Given the description of an element on the screen output the (x, y) to click on. 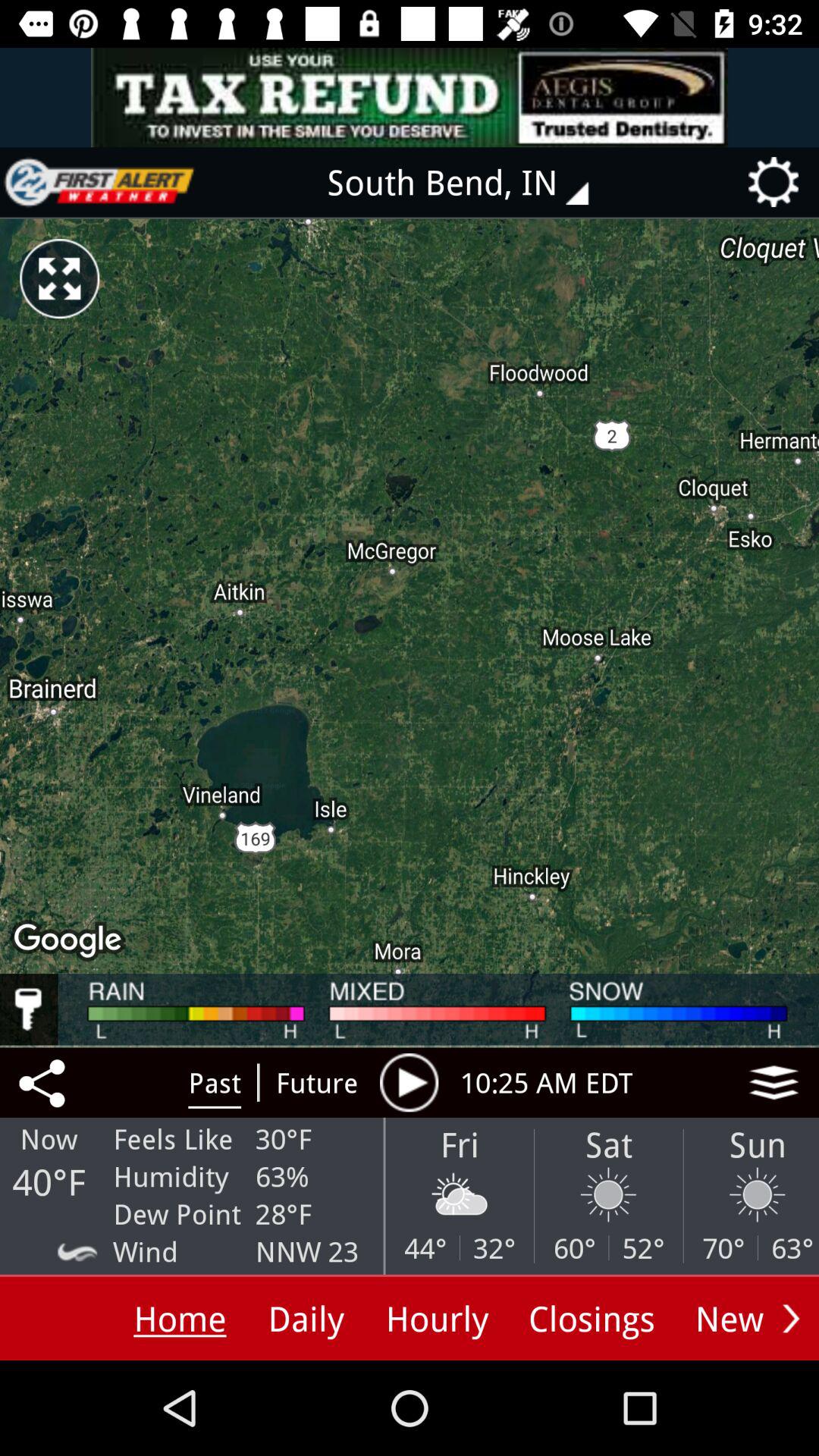
home page (99, 182)
